Given the description of an element on the screen output the (x, y) to click on. 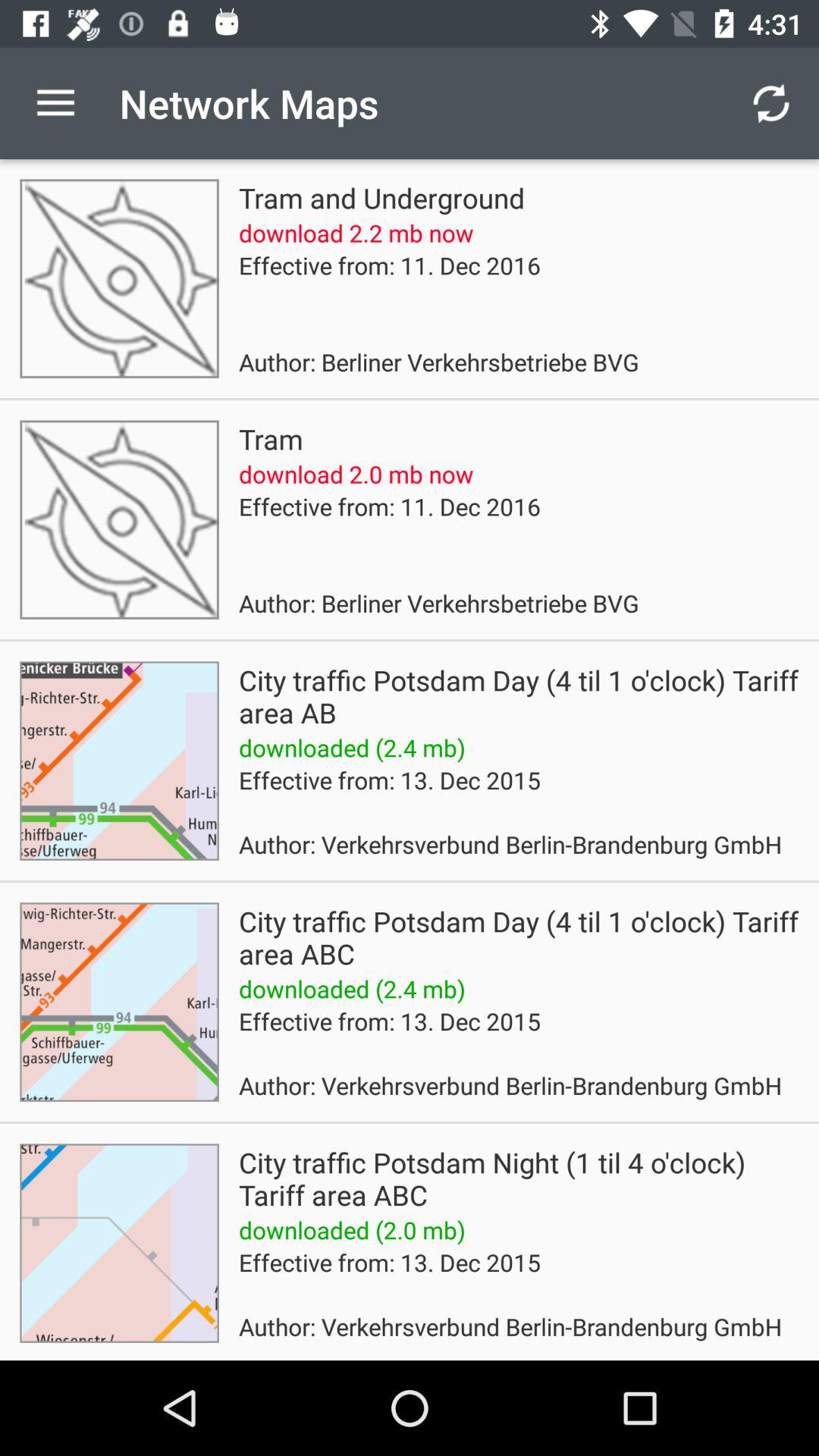
choose the app next to network maps icon (55, 103)
